Given the description of an element on the screen output the (x, y) to click on. 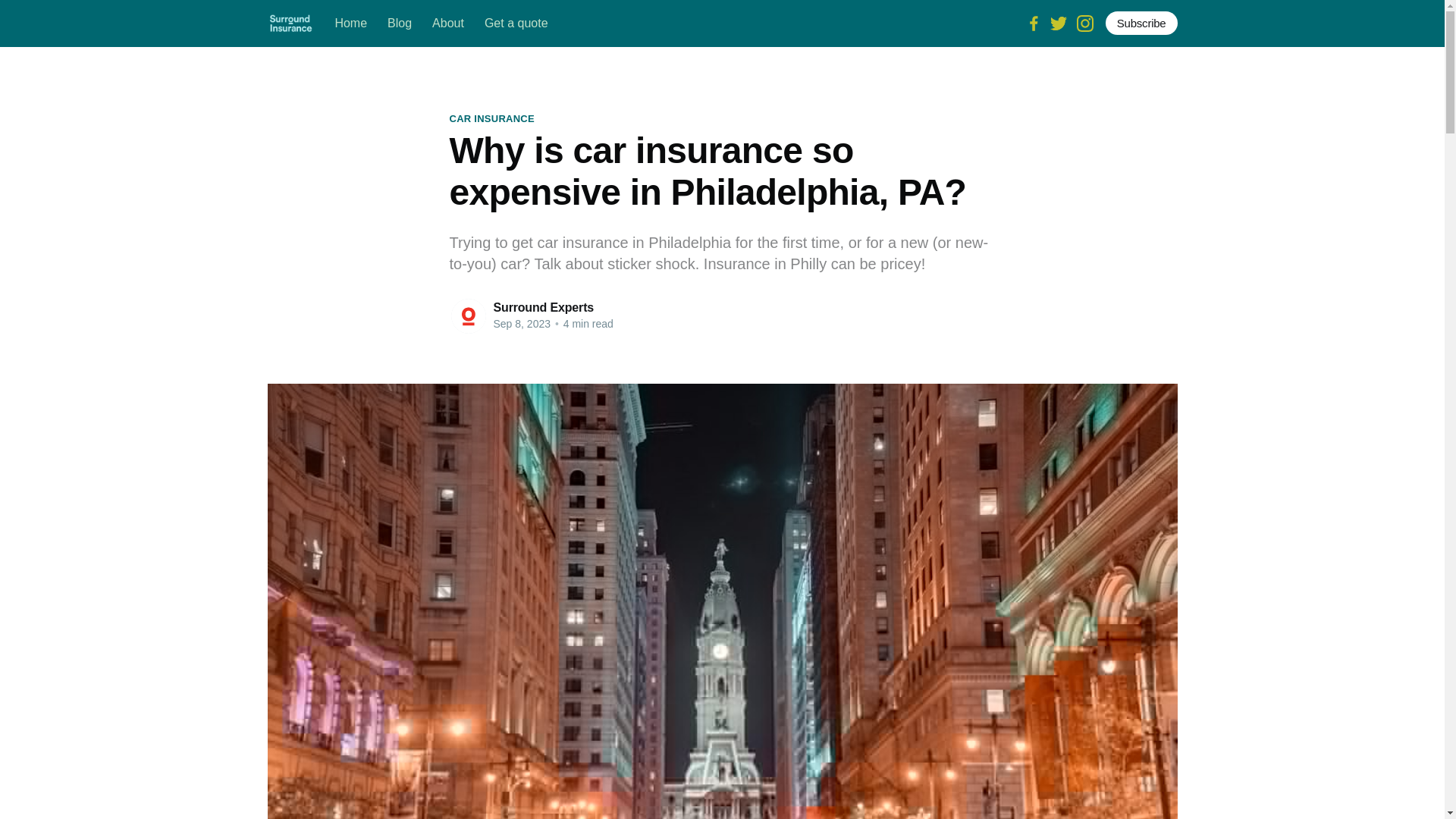
Get a quote (516, 22)
CAR INSURANCE (491, 119)
About (448, 22)
Instagram (1085, 21)
Facebook (1033, 21)
Home (350, 22)
Surround Experts (543, 307)
Subscribe (1141, 23)
Twitter (1058, 21)
